Given the description of an element on the screen output the (x, y) to click on. 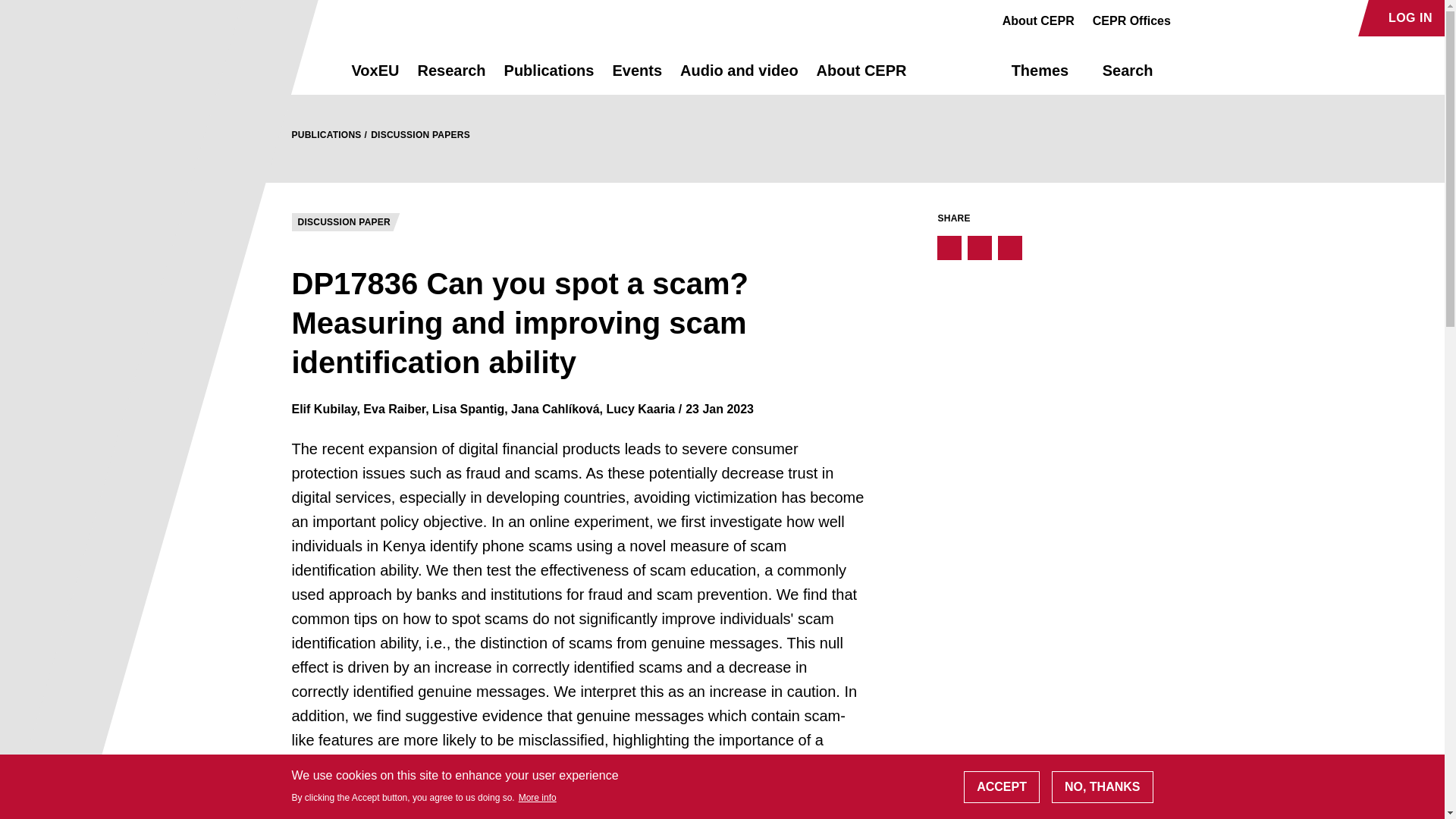
Go to Facebook profile (1190, 17)
Add to basket (352, 806)
Go to Linkedin profile (1243, 18)
Go to Audioboom profile (1217, 17)
Publications (548, 77)
Events (636, 77)
Research (450, 77)
Return to the homepage (293, 69)
Audio and video (738, 77)
VoxEU (375, 77)
